Given the description of an element on the screen output the (x, y) to click on. 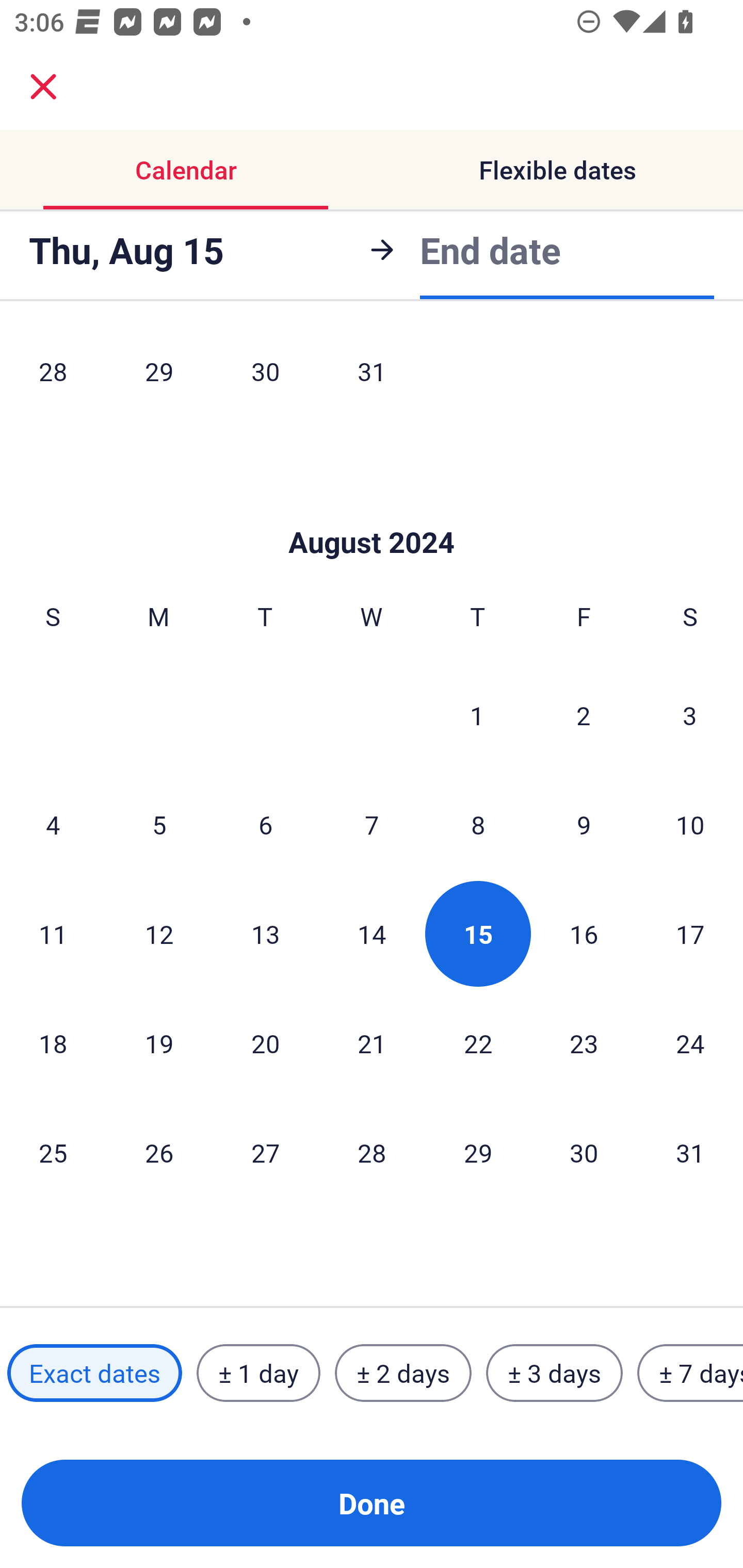
close. (43, 86)
Flexible dates (557, 170)
End date (489, 249)
28 Sunday, July 28, 2024 (53, 376)
29 Monday, July 29, 2024 (159, 376)
30 Tuesday, July 30, 2024 (265, 376)
31 Wednesday, July 31, 2024 (371, 376)
Skip to Done (371, 511)
1 Thursday, August 1, 2024 (477, 714)
2 Friday, August 2, 2024 (583, 714)
3 Saturday, August 3, 2024 (689, 714)
4 Sunday, August 4, 2024 (53, 824)
5 Monday, August 5, 2024 (159, 824)
6 Tuesday, August 6, 2024 (265, 824)
7 Wednesday, August 7, 2024 (371, 824)
8 Thursday, August 8, 2024 (477, 824)
9 Friday, August 9, 2024 (584, 824)
10 Saturday, August 10, 2024 (690, 824)
11 Sunday, August 11, 2024 (53, 933)
12 Monday, August 12, 2024 (159, 933)
13 Tuesday, August 13, 2024 (265, 933)
14 Wednesday, August 14, 2024 (371, 933)
16 Friday, August 16, 2024 (584, 933)
17 Saturday, August 17, 2024 (690, 933)
18 Sunday, August 18, 2024 (53, 1043)
19 Monday, August 19, 2024 (159, 1043)
20 Tuesday, August 20, 2024 (265, 1043)
21 Wednesday, August 21, 2024 (371, 1043)
22 Thursday, August 22, 2024 (477, 1043)
23 Friday, August 23, 2024 (584, 1043)
24 Saturday, August 24, 2024 (690, 1043)
25 Sunday, August 25, 2024 (53, 1152)
26 Monday, August 26, 2024 (159, 1152)
27 Tuesday, August 27, 2024 (265, 1152)
28 Wednesday, August 28, 2024 (371, 1152)
29 Thursday, August 29, 2024 (477, 1152)
30 Friday, August 30, 2024 (584, 1152)
31 Saturday, August 31, 2024 (690, 1152)
Exact dates (94, 1372)
± 1 day (258, 1372)
± 2 days (403, 1372)
± 3 days (553, 1372)
± 7 days (690, 1372)
Done (371, 1502)
